Given the description of an element on the screen output the (x, y) to click on. 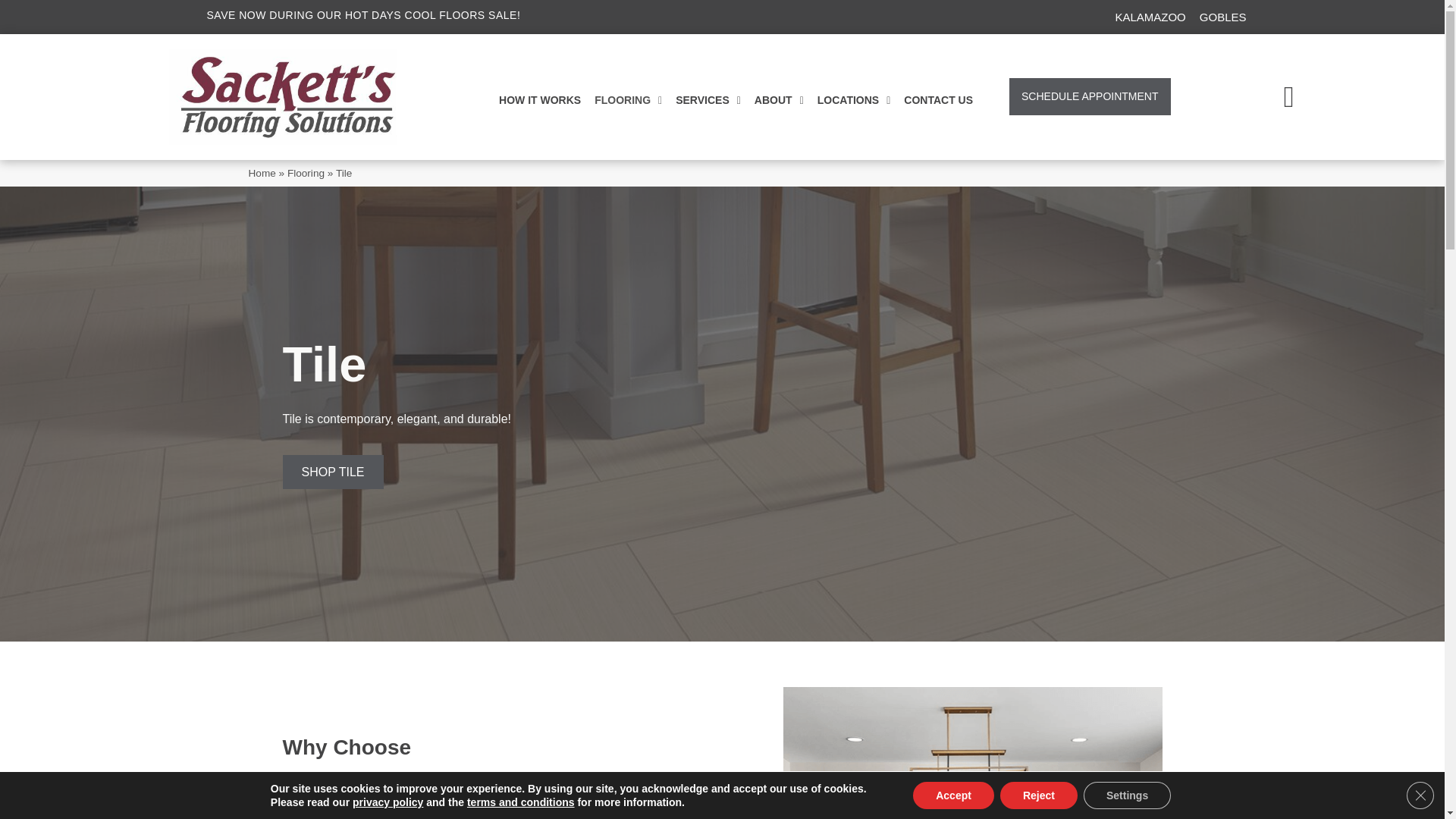
FLOORING (628, 96)
SAVE NOW DURING OUR HOT DAYS COOL FLOORS SALE! (362, 14)
HOW IT WORKS (539, 96)
scktltns-logo (282, 96)
GOBLES (1222, 16)
KALAMAZOO (1150, 16)
